Given the description of an element on the screen output the (x, y) to click on. 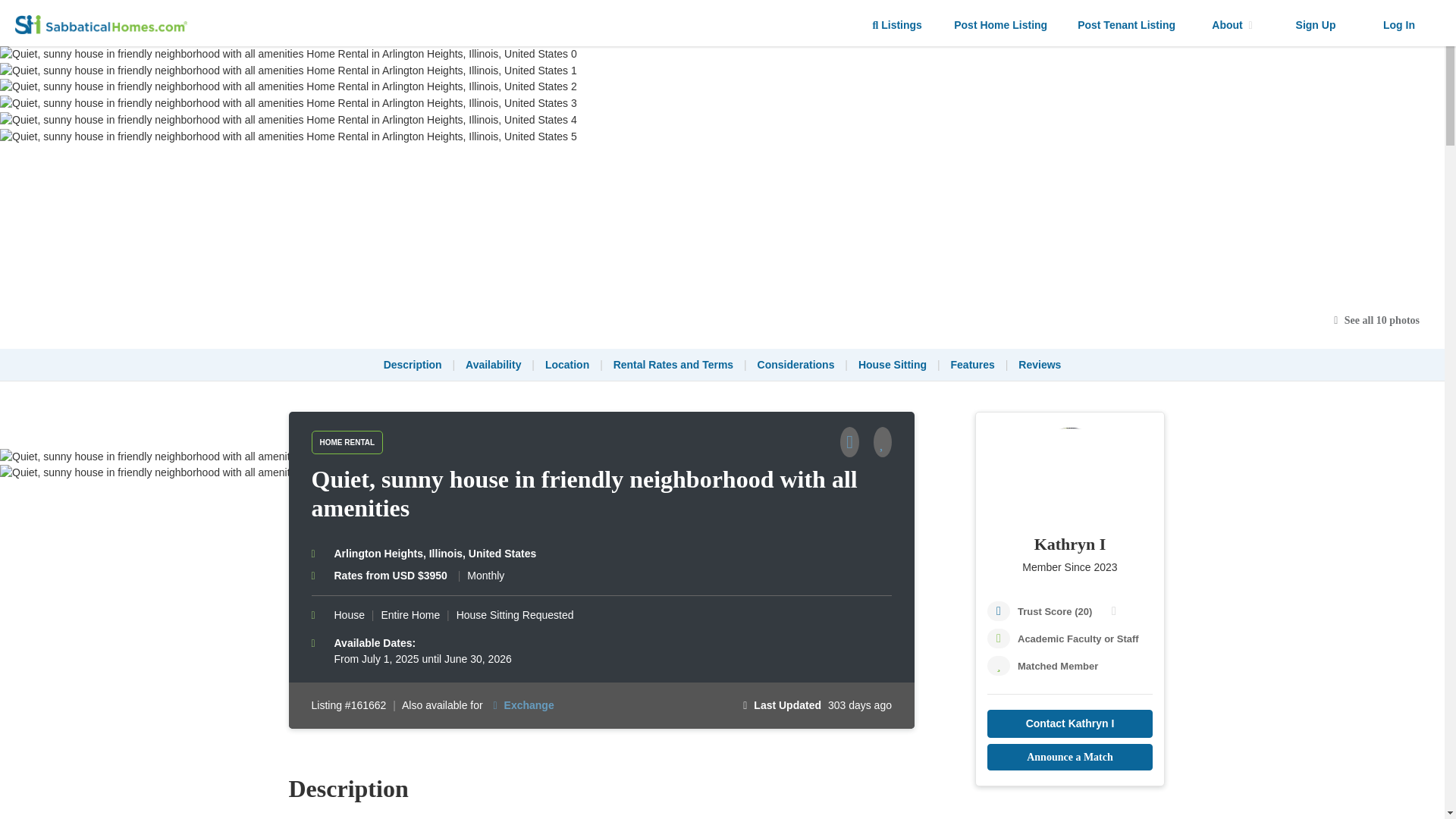
Listings (897, 25)
Kathryn I (1070, 543)
Post Home Listing (1000, 25)
Sign Up (1315, 25)
About (1232, 25)
Log In (1398, 25)
Share This Listing (855, 444)
Post Tenant Listing (1126, 25)
